Given the description of an element on the screen output the (x, y) to click on. 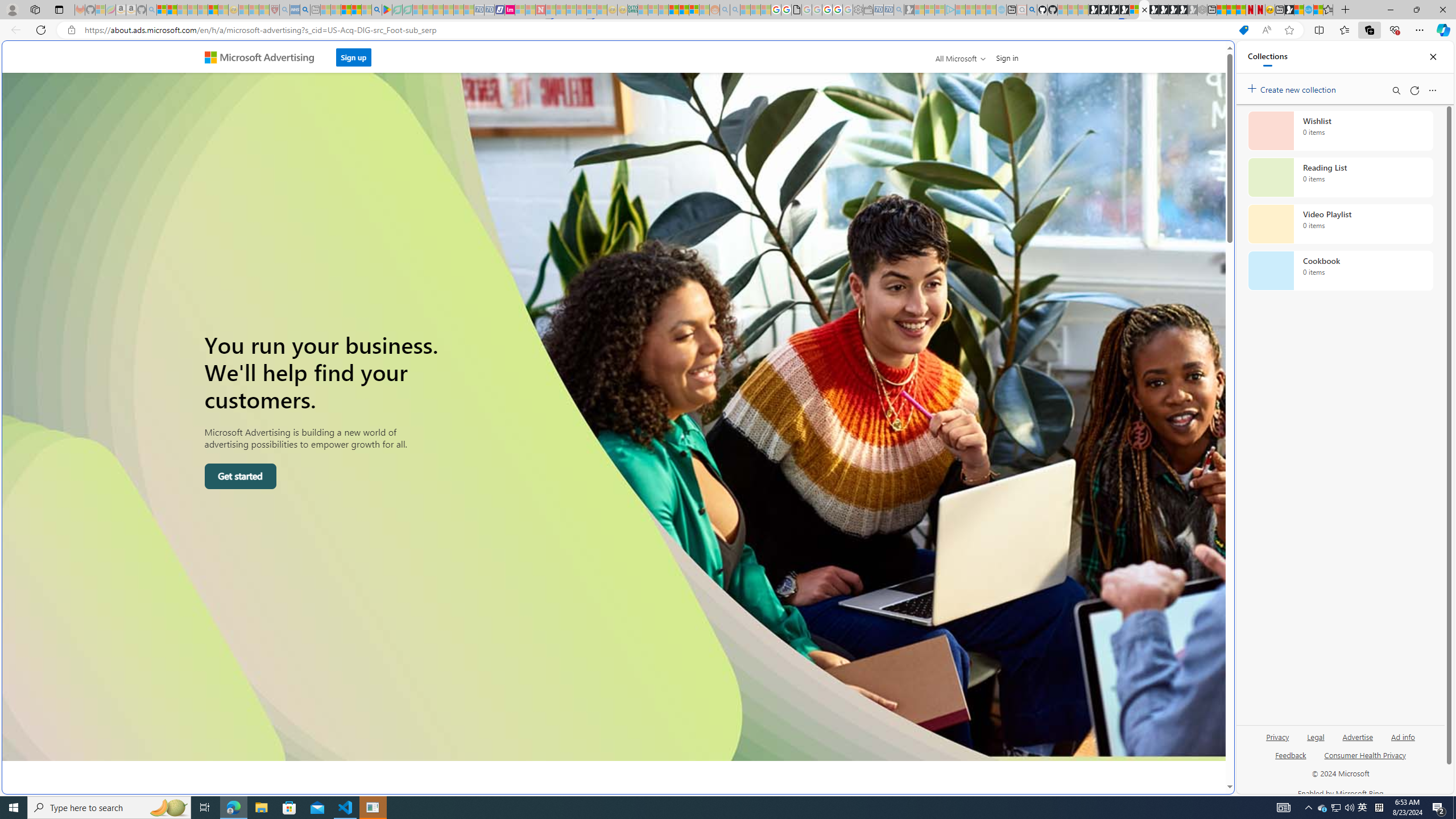
Wishlist collection, 0 items (1339, 130)
Frequently visited (965, 151)
More options menu (1432, 90)
